Given the description of an element on the screen output the (x, y) to click on. 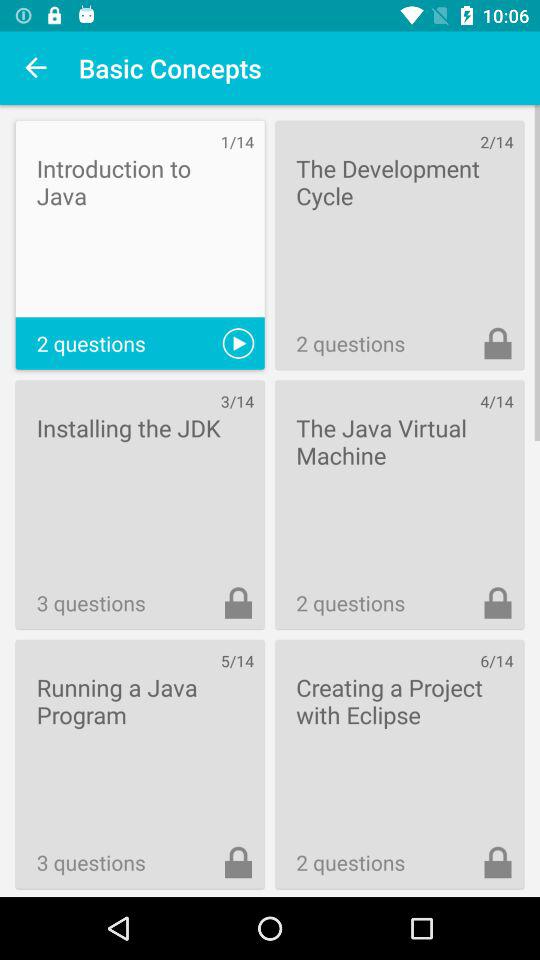
select item to the left of basic concepts (36, 68)
